Given the description of an element on the screen output the (x, y) to click on. 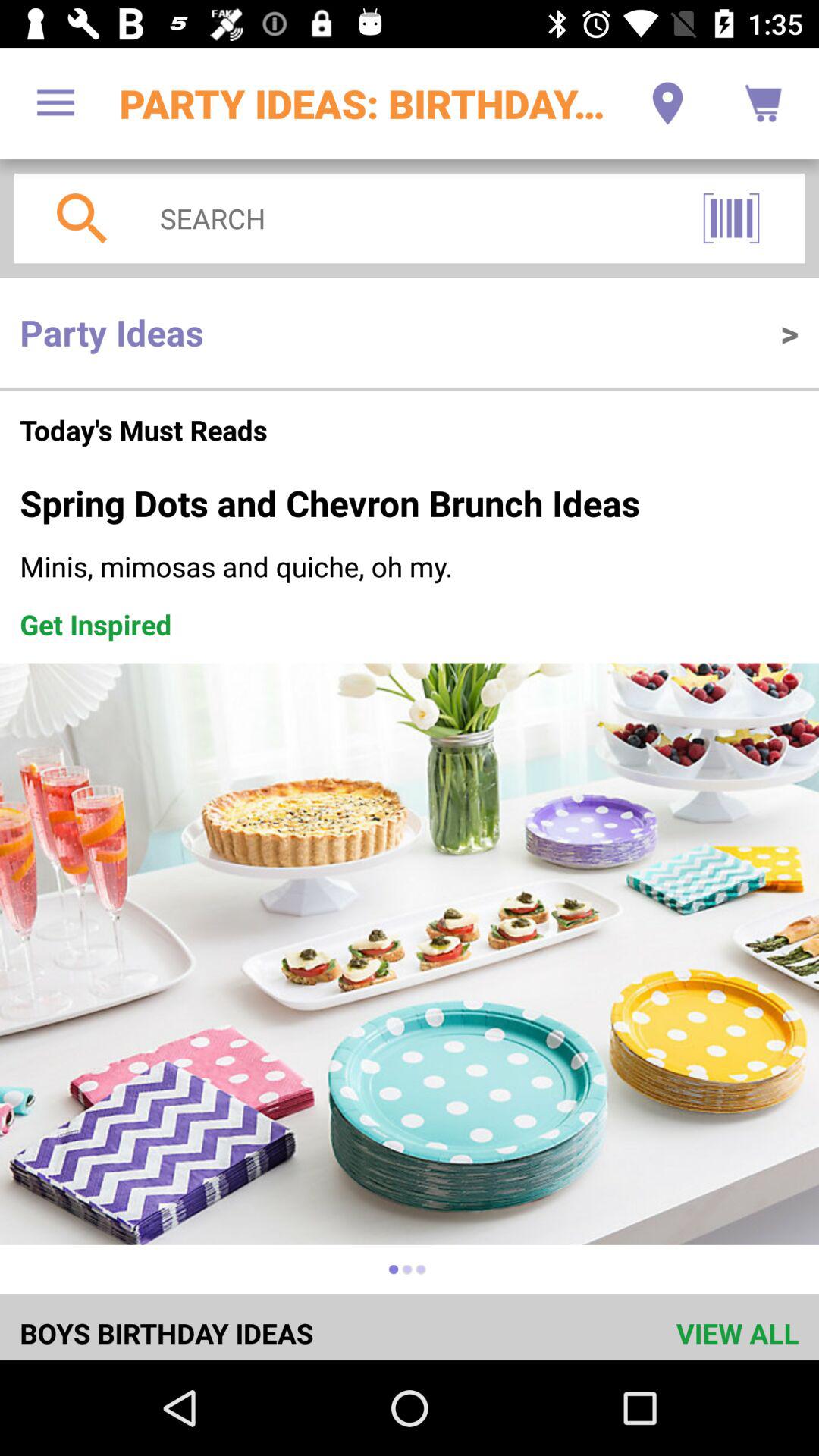
tap item on the left (95, 624)
